Given the description of an element on the screen output the (x, y) to click on. 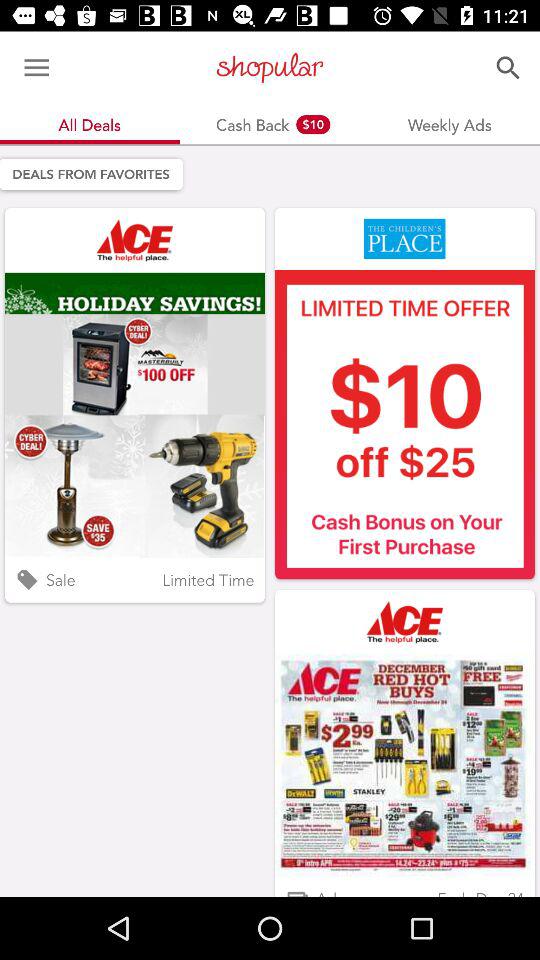
turn off icon above the weekly ads icon (508, 67)
